Given the description of an element on the screen output the (x, y) to click on. 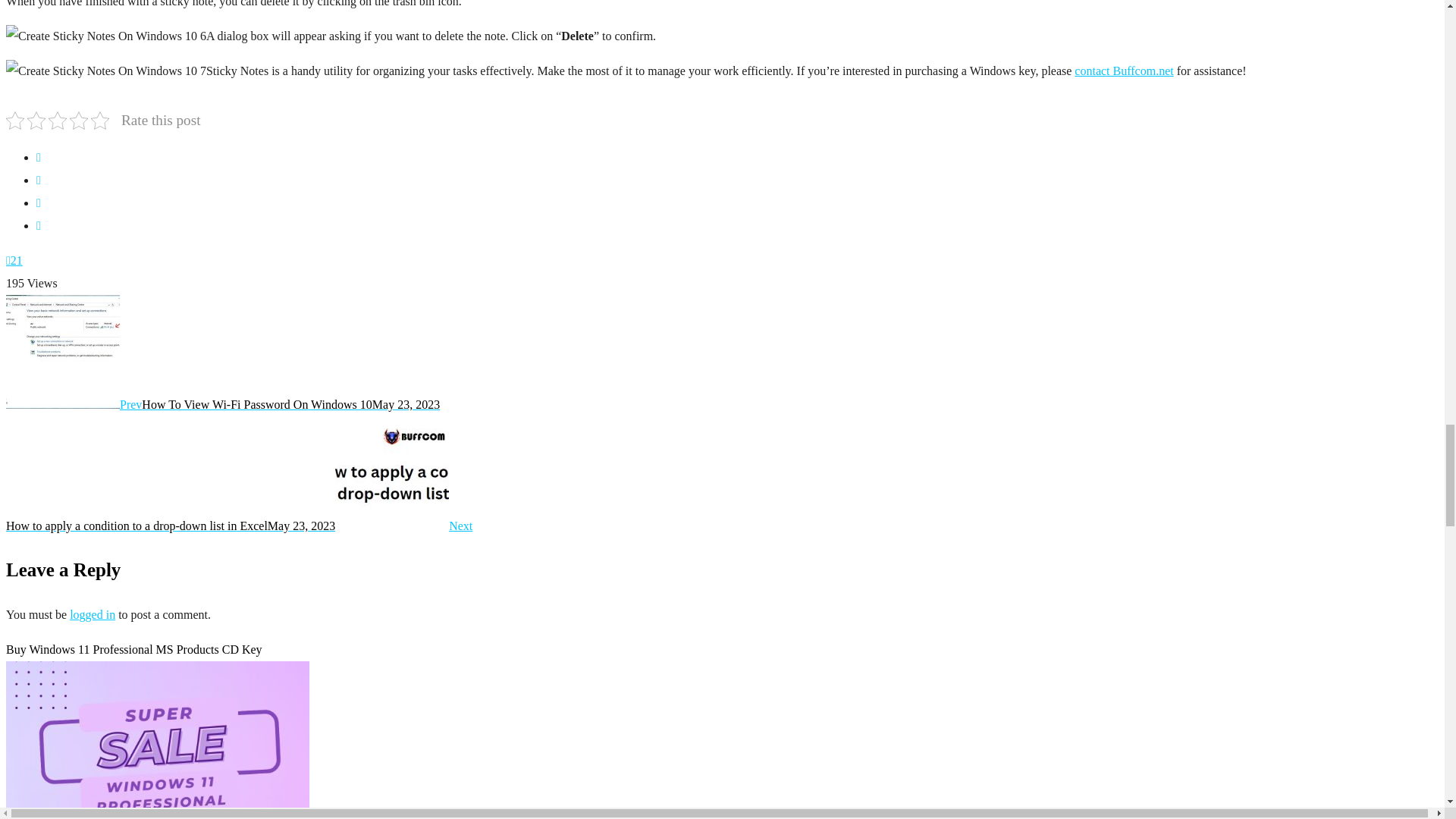
How To View Wi-Fi Password On Windows 10 (222, 404)
Like (14, 259)
How To Create Sticky Notes On Windows 10 7 (105, 70)
How To Create Sticky Notes On Windows 10 6 (105, 36)
How to apply a condition to a drop-down list in Excel (238, 525)
